Given the description of an element on the screen output the (x, y) to click on. 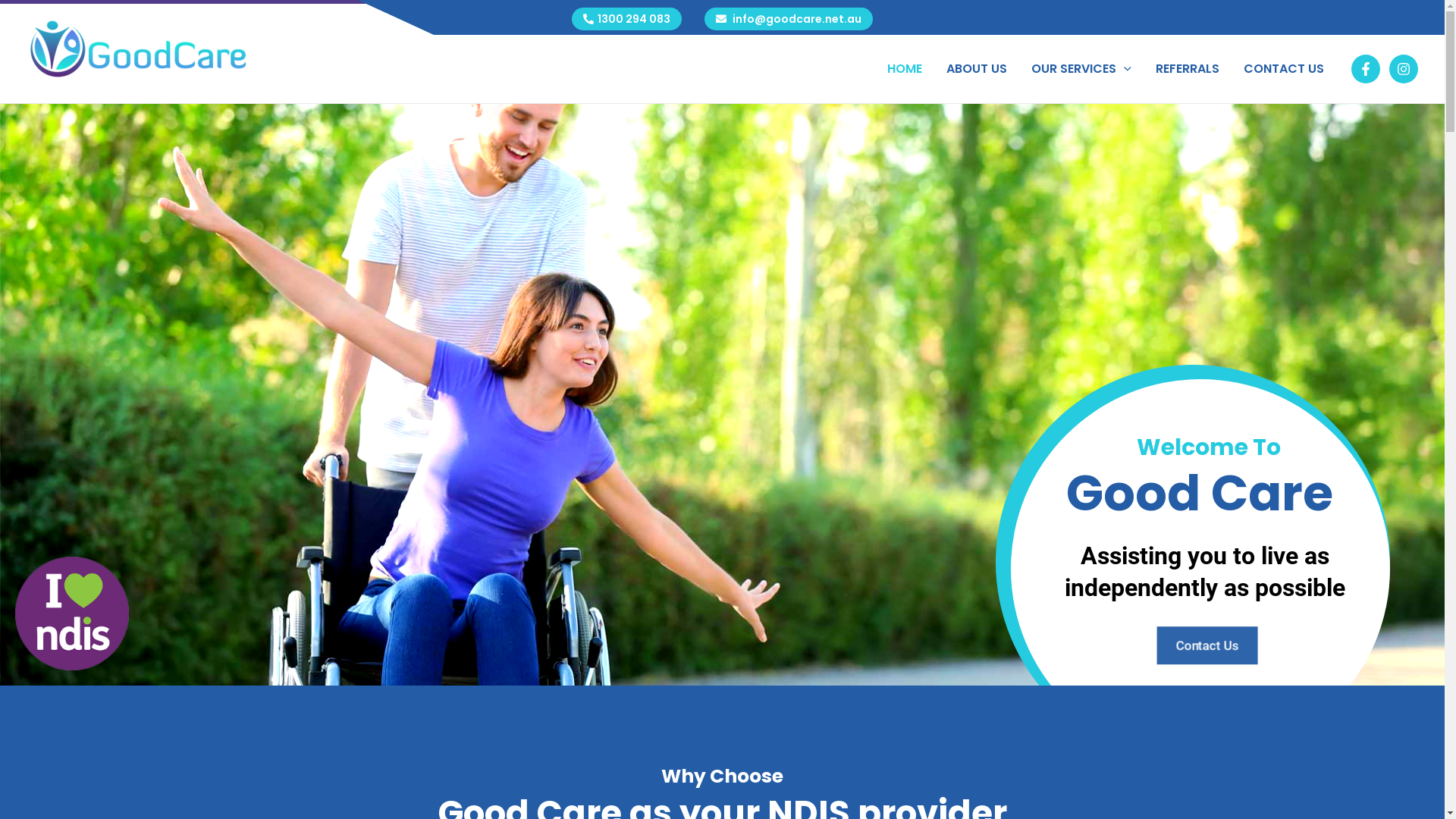
CONTACT US Element type: text (1283, 68)
REFERRALS Element type: text (1187, 68)
HOME Element type: text (904, 68)
ABOUT US Element type: text (976, 68)
info@goodcare.net.au Element type: text (796, 18)
1300 294 083 Element type: text (633, 18)
OUR SERVICES Element type: text (1081, 68)
Contact Us Element type: text (1206, 630)
